Given the description of an element on the screen output the (x, y) to click on. 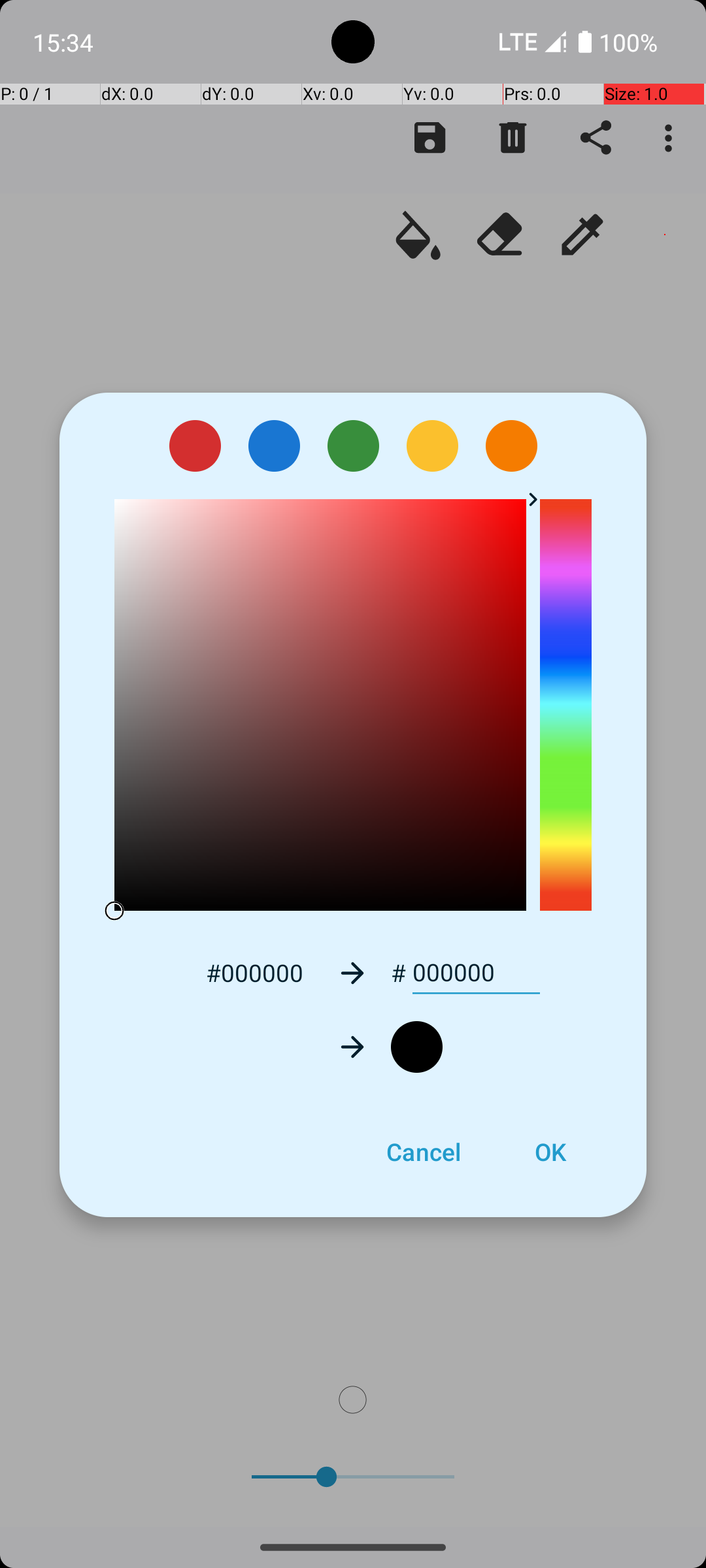
#000000 Element type: android.widget.TextView (254, 972)
000000 Element type: android.widget.EditText (475, 972)
